Given the description of an element on the screen output the (x, y) to click on. 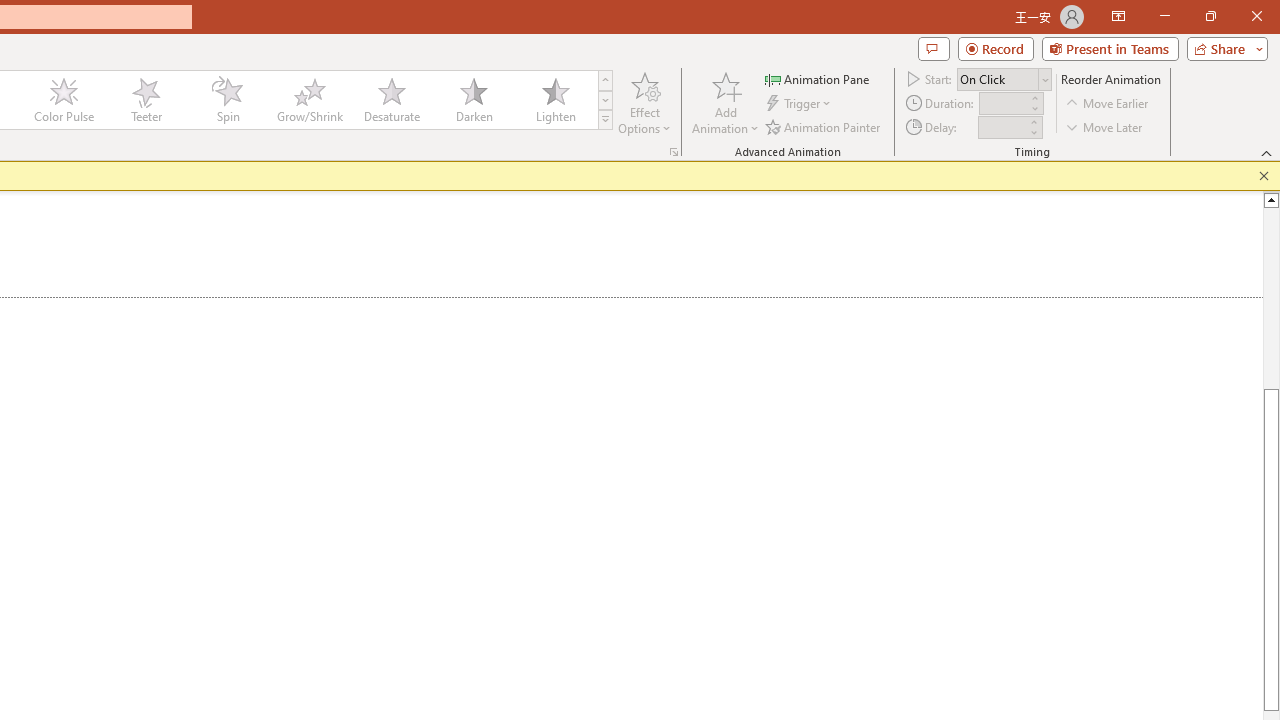
Grow/Shrink (309, 100)
Animation Painter (824, 126)
